Given the description of an element on the screen output the (x, y) to click on. 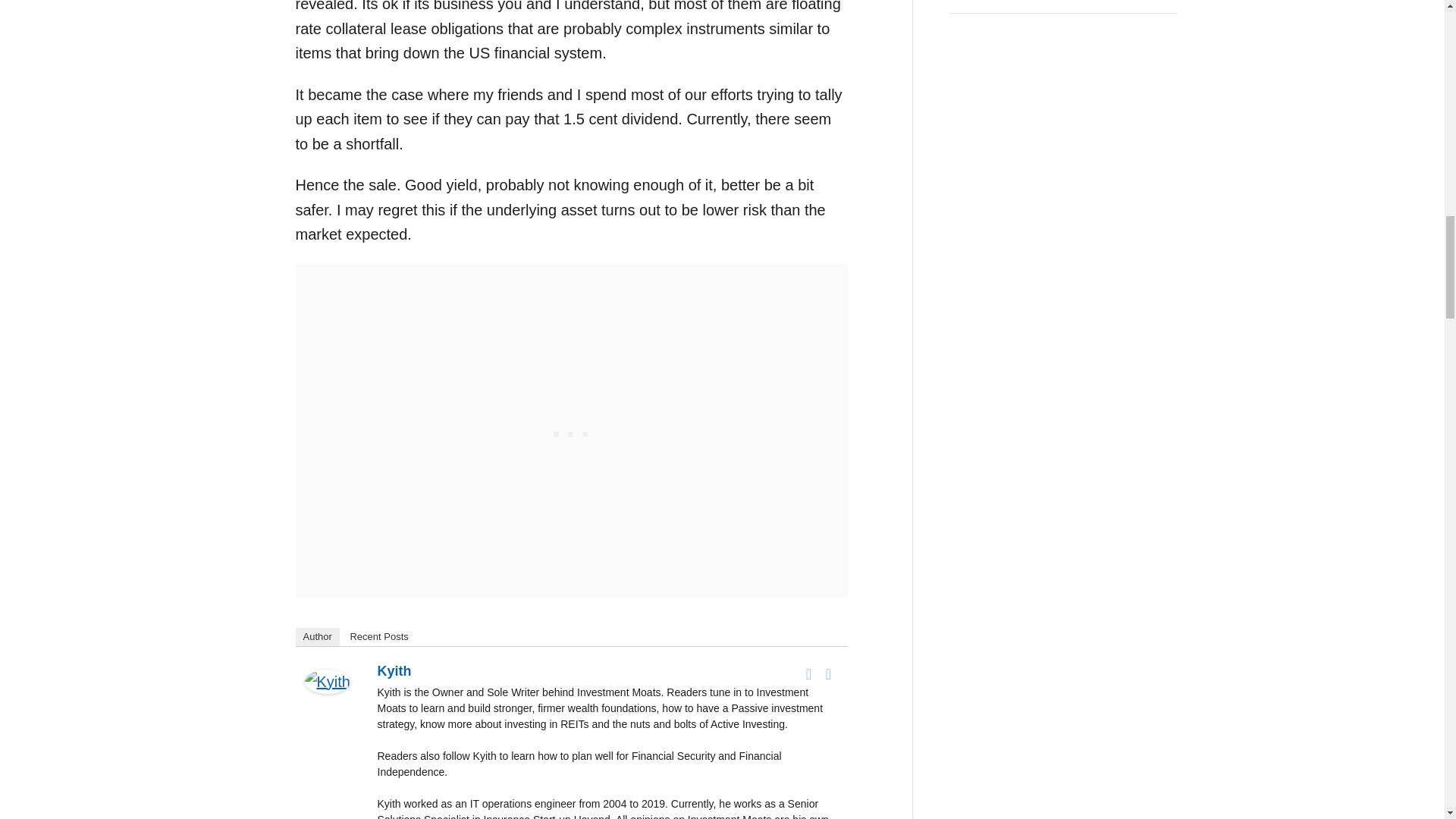
Facebook (807, 674)
Recent Posts (378, 637)
Author (317, 637)
Twitter (827, 674)
Kyith (394, 670)
Kyith (327, 703)
